Given the description of an element on the screen output the (x, y) to click on. 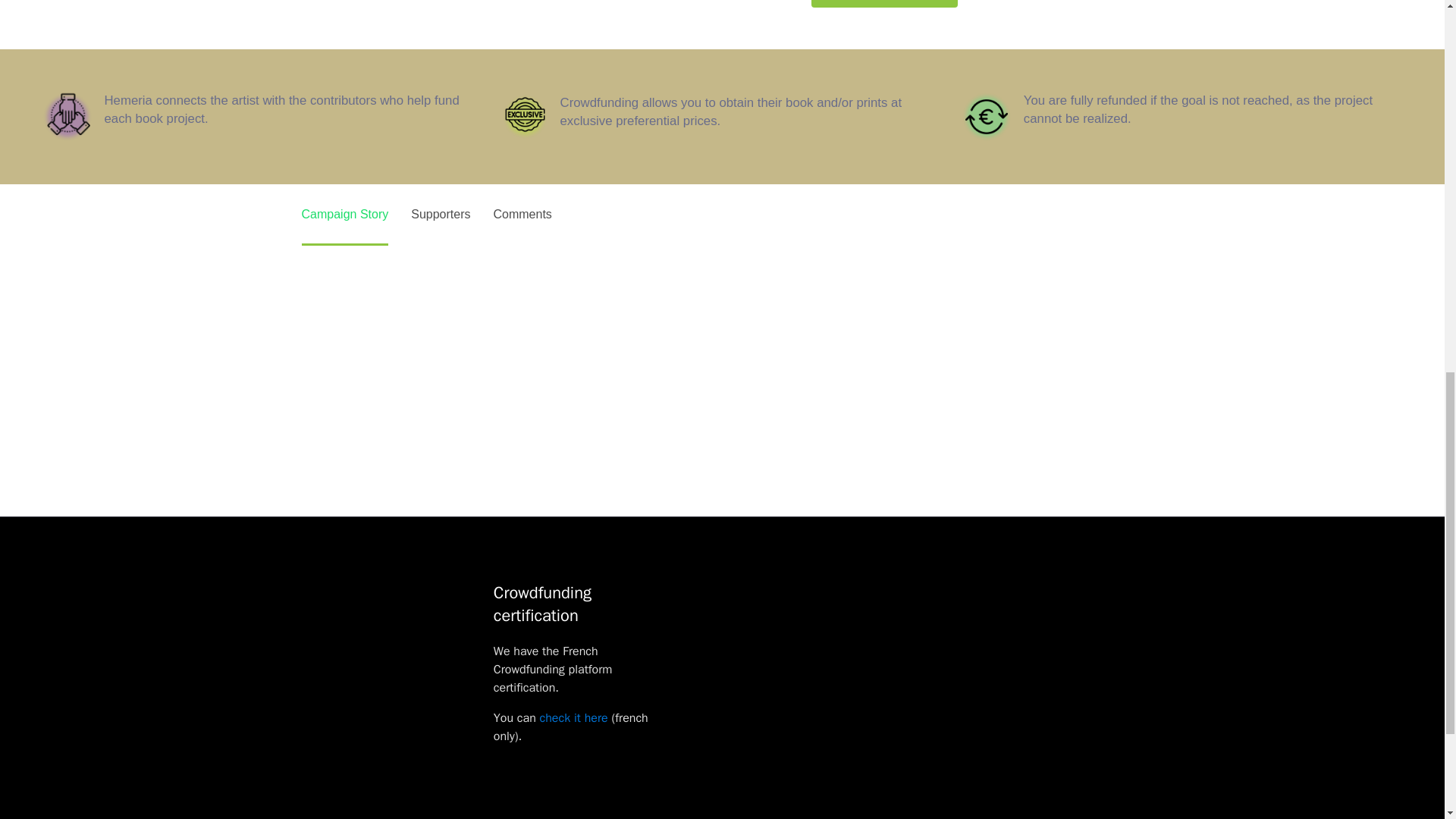
Support this project (884, 3)
Supporters (440, 214)
Comments (522, 214)
Campaign Story (344, 214)
